Given the description of an element on the screen output the (x, y) to click on. 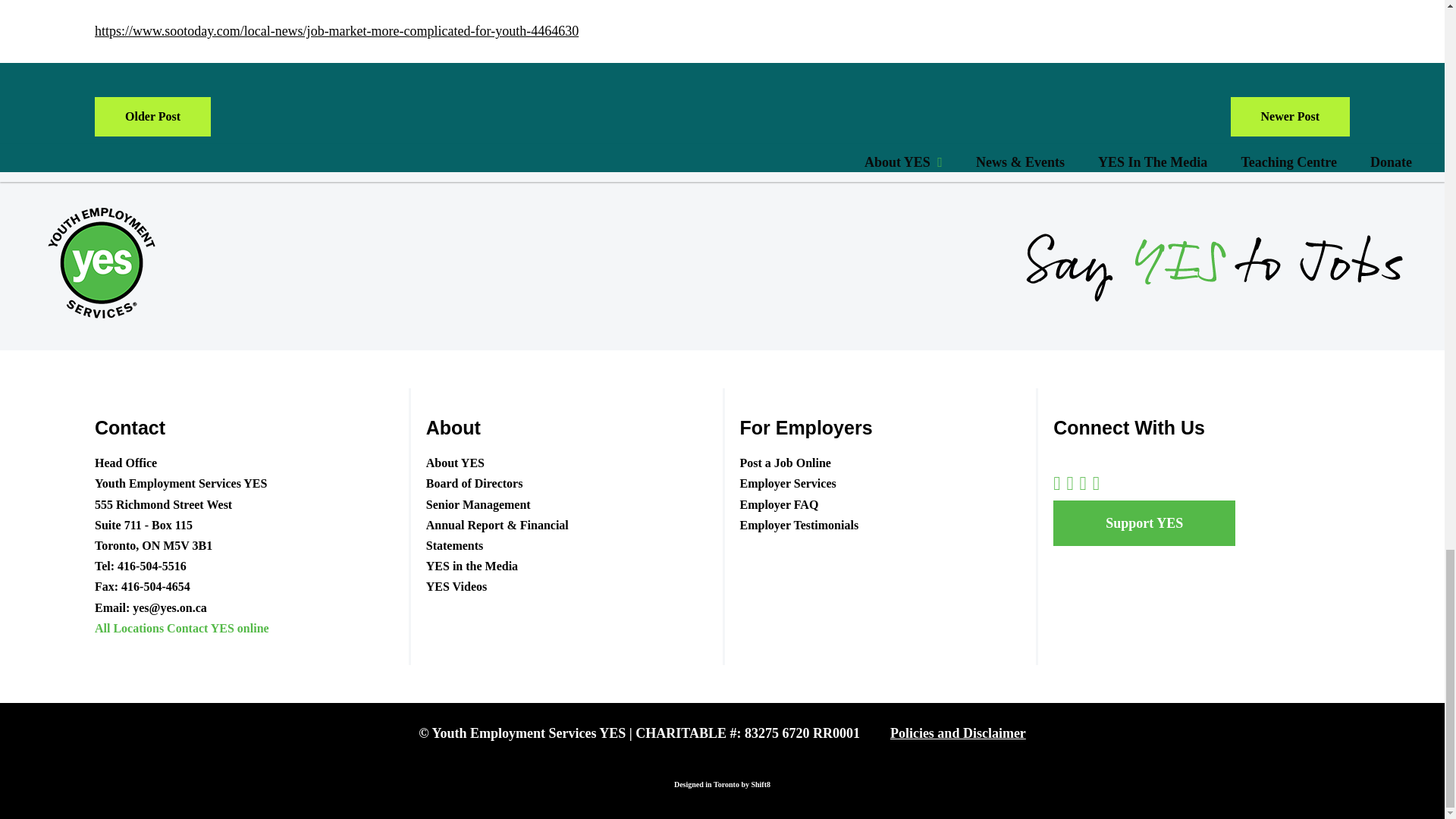
Say YES to Jobs (1215, 261)
Our 2021 Annual Report is now available! (1289, 116)
footer logo (99, 261)
YES featured in SAS Blog Post! (152, 116)
Donate (1143, 522)
